Given the description of an element on the screen output the (x, y) to click on. 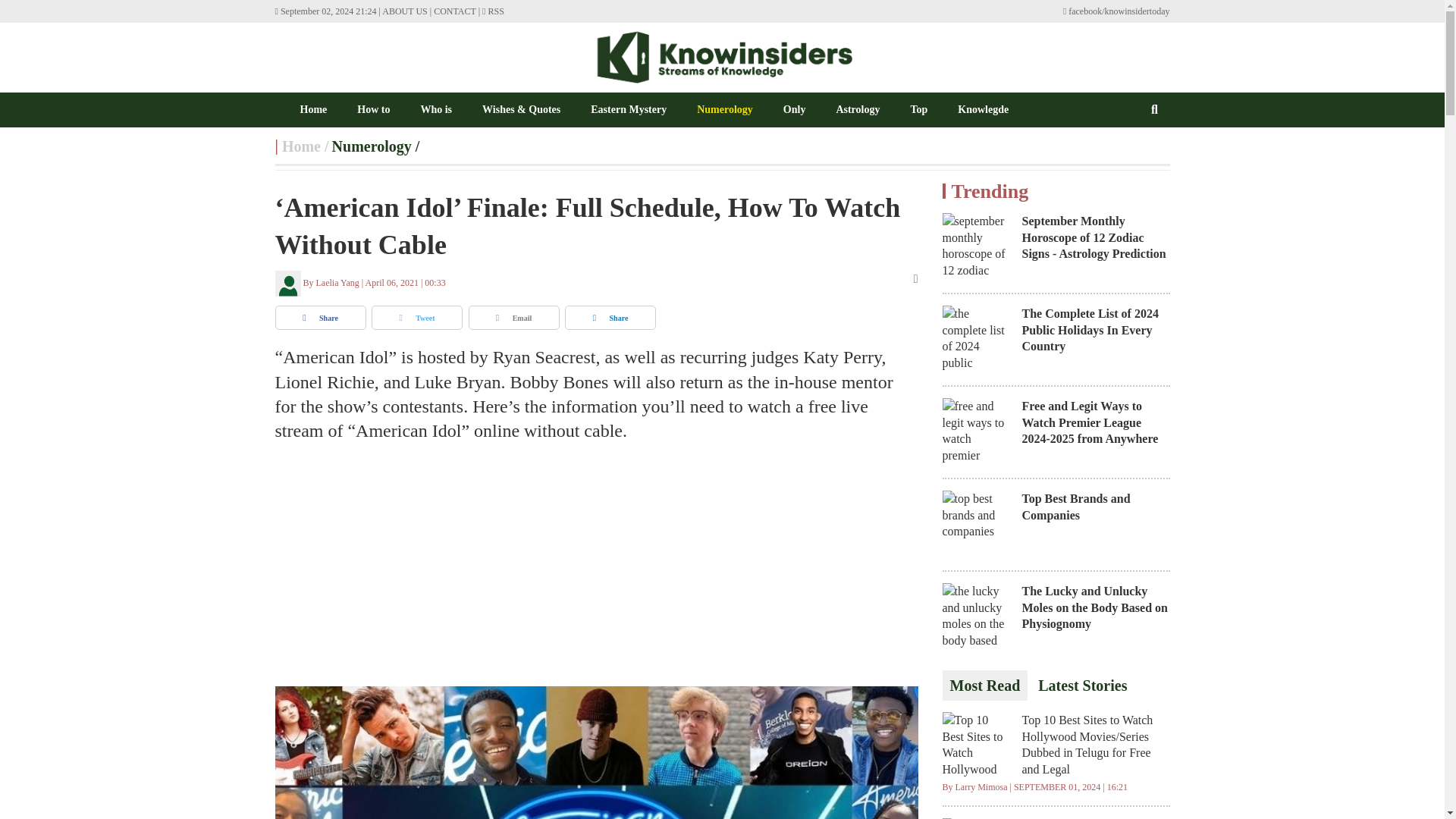
Share (610, 317)
Only (794, 109)
Knowlegde (983, 109)
Tweet (417, 317)
KnowInsiders (300, 109)
Numerology (371, 146)
Eastern Mystery (628, 109)
Laelia Yang (333, 282)
Numerology (371, 146)
Share (320, 317)
